Given the description of an element on the screen output the (x, y) to click on. 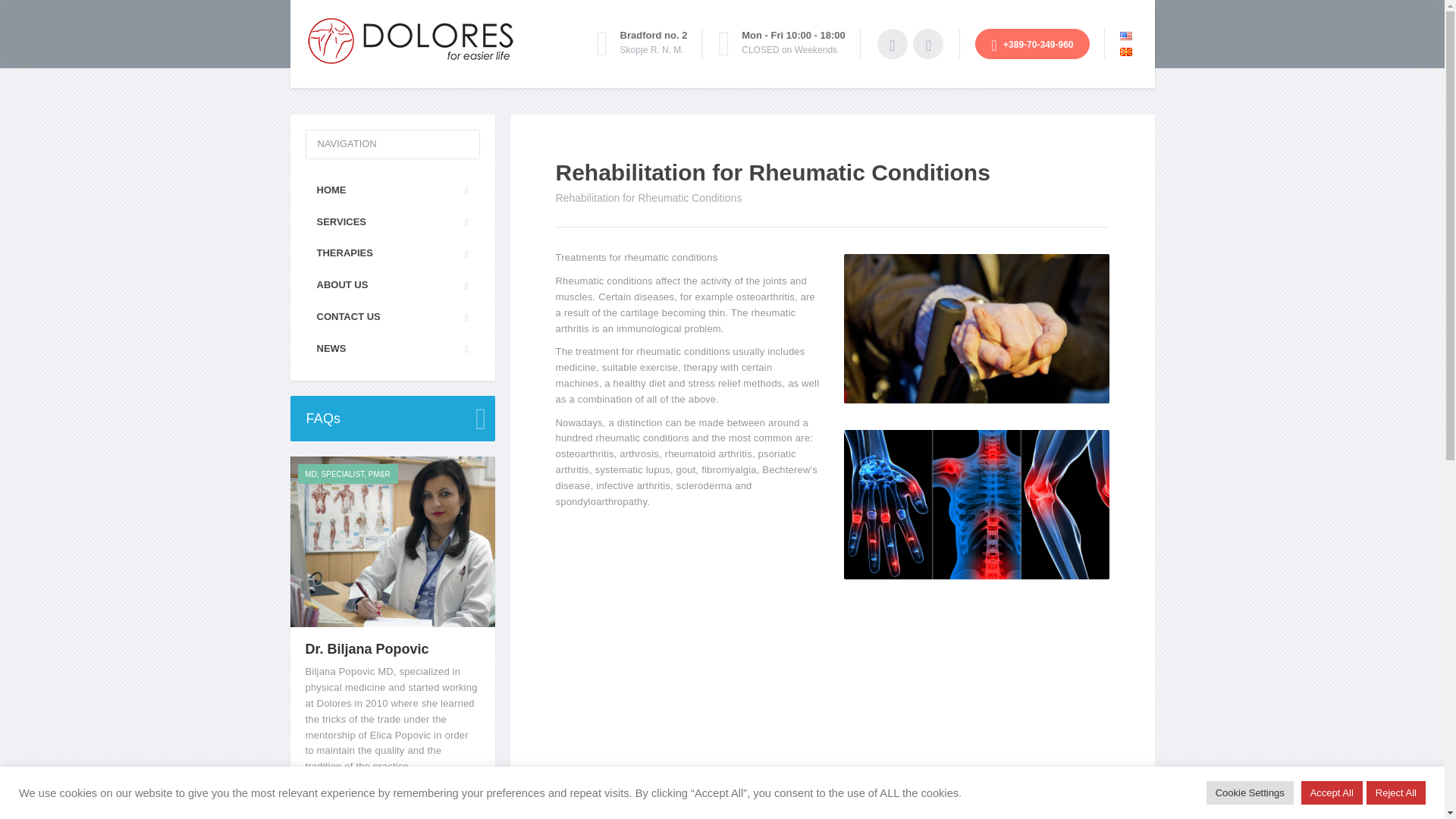
FAQs (392, 418)
ABOUT US (391, 285)
HOME (391, 190)
THERAPIES (391, 253)
SERVICES (391, 222)
READ MORE (334, 797)
CONTACT US (391, 317)
NEWS (391, 348)
